Given the description of an element on the screen output the (x, y) to click on. 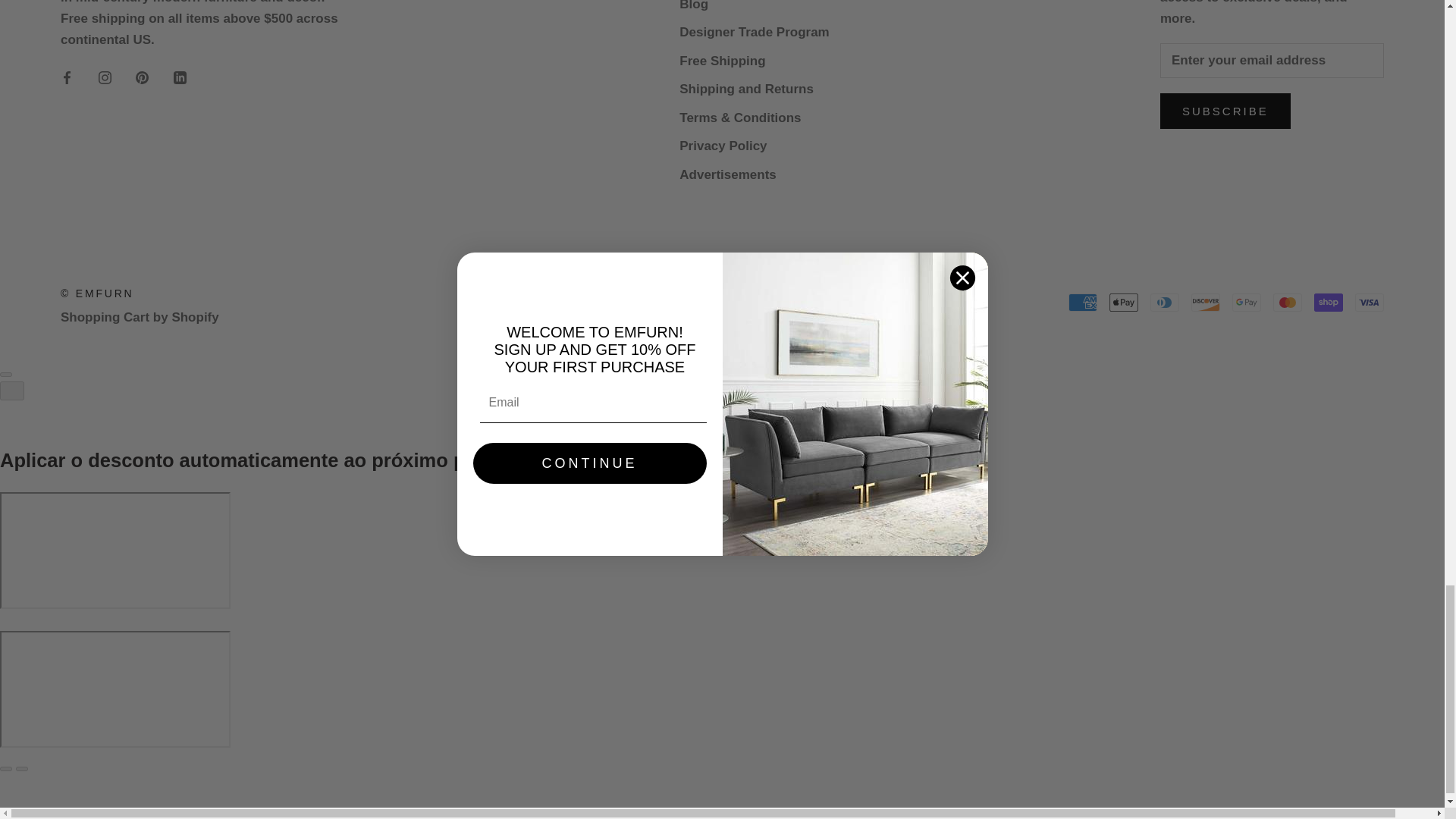
Mastercard (1286, 302)
Discover (1205, 302)
Shop Pay (1328, 302)
Google Pay (1245, 302)
Apple Pay (1123, 302)
Diners Club (1164, 302)
American Express (1082, 302)
